Given the description of an element on the screen output the (x, y) to click on. 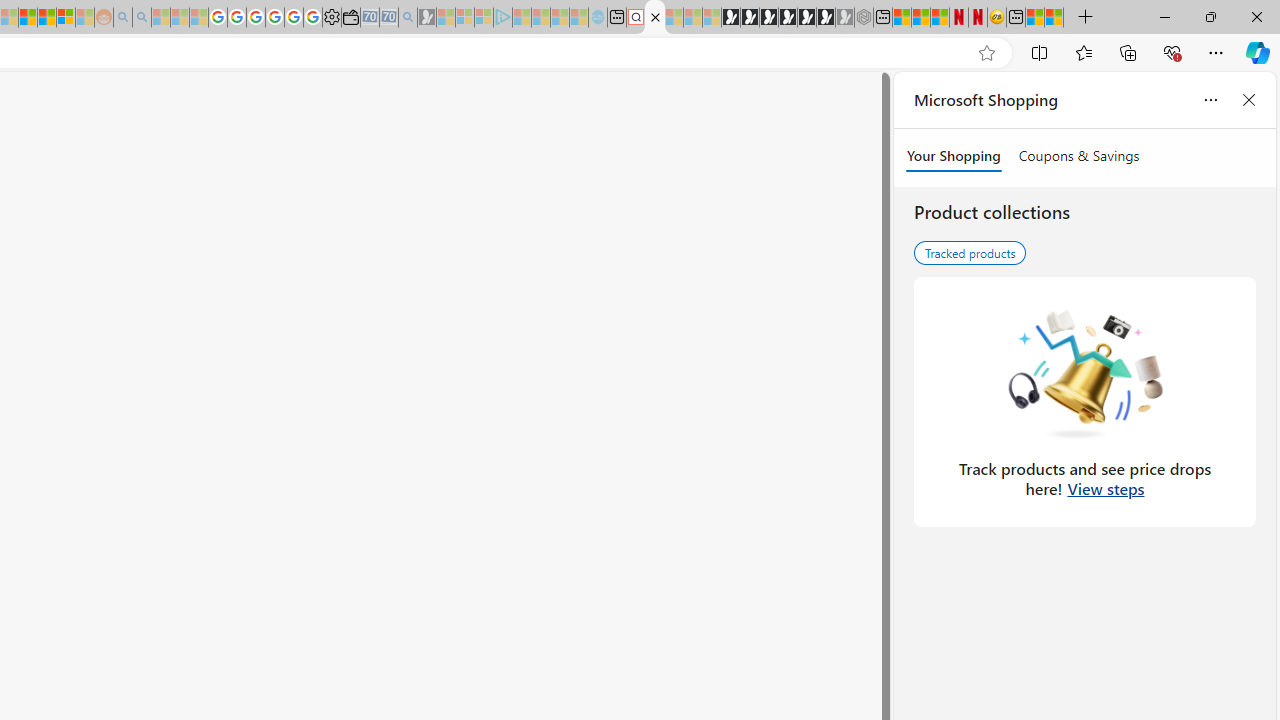
Microsoft Start Gaming - Sleeping (427, 17)
Play Cave FRVR in your browser | Games from Microsoft Start (769, 17)
